Given the description of an element on the screen output the (x, y) to click on. 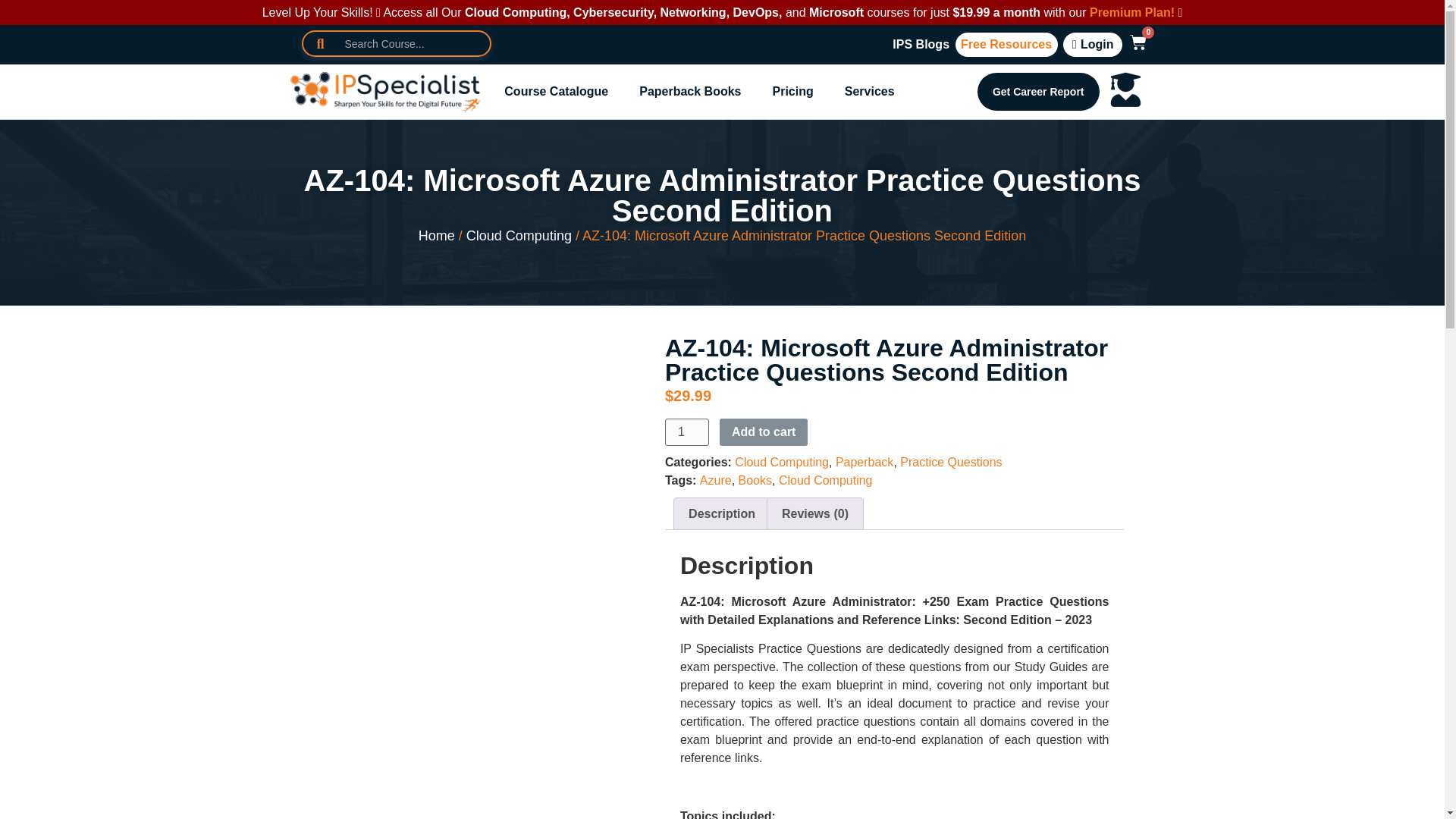
1 (687, 431)
Free Resources (1005, 44)
IPS Blogs (920, 44)
Course Catalogue (555, 91)
Premium Plan! (1131, 11)
0 (1134, 44)
Login (1092, 44)
